Given the description of an element on the screen output the (x, y) to click on. 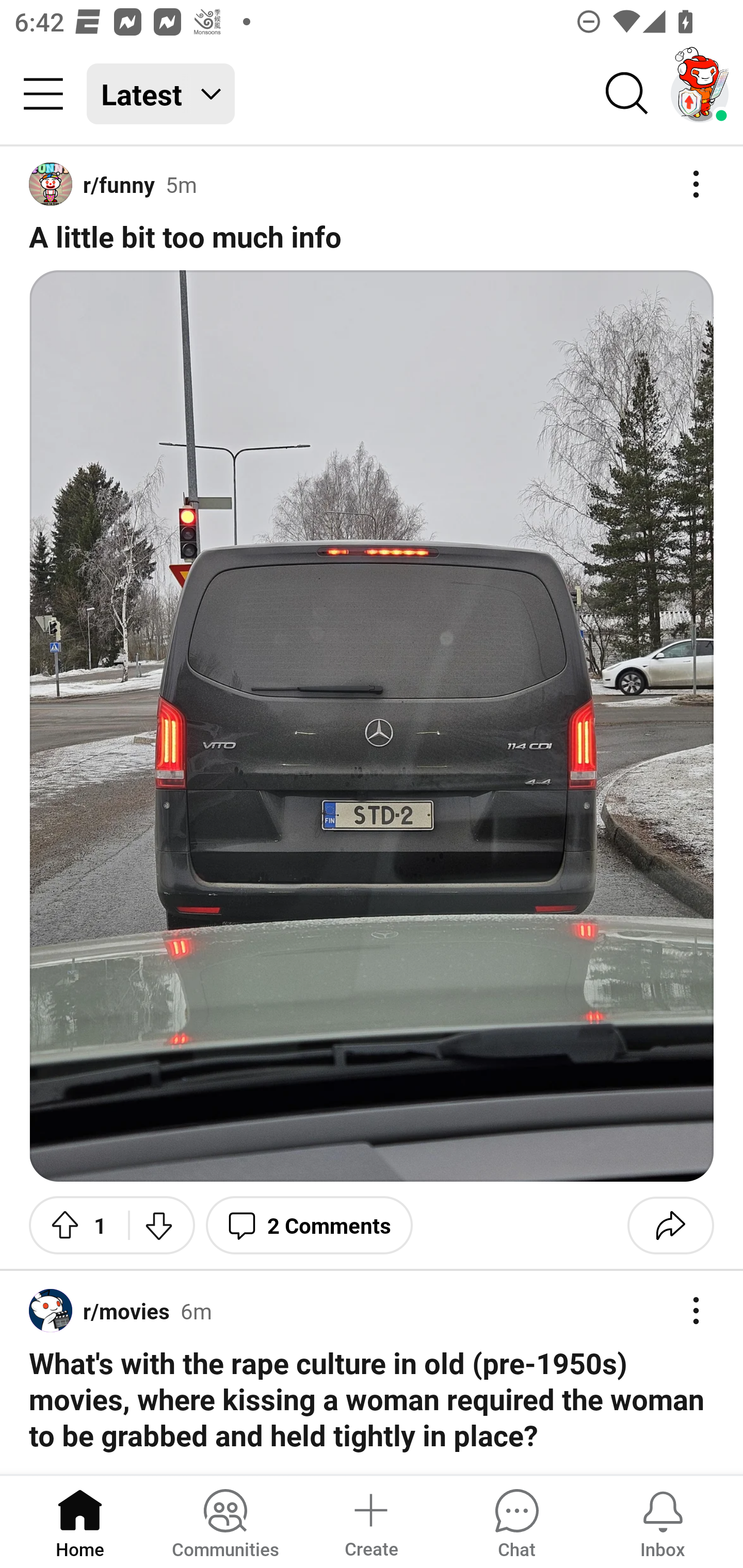
Community menu (43, 93)
Latest Latest feed (160, 93)
Search (626, 93)
TestAppium002 account (699, 93)
Home (80, 1520)
Communities (225, 1520)
Create a post Create (370, 1520)
Chat (516, 1520)
Inbox (662, 1520)
